Given the description of an element on the screen output the (x, y) to click on. 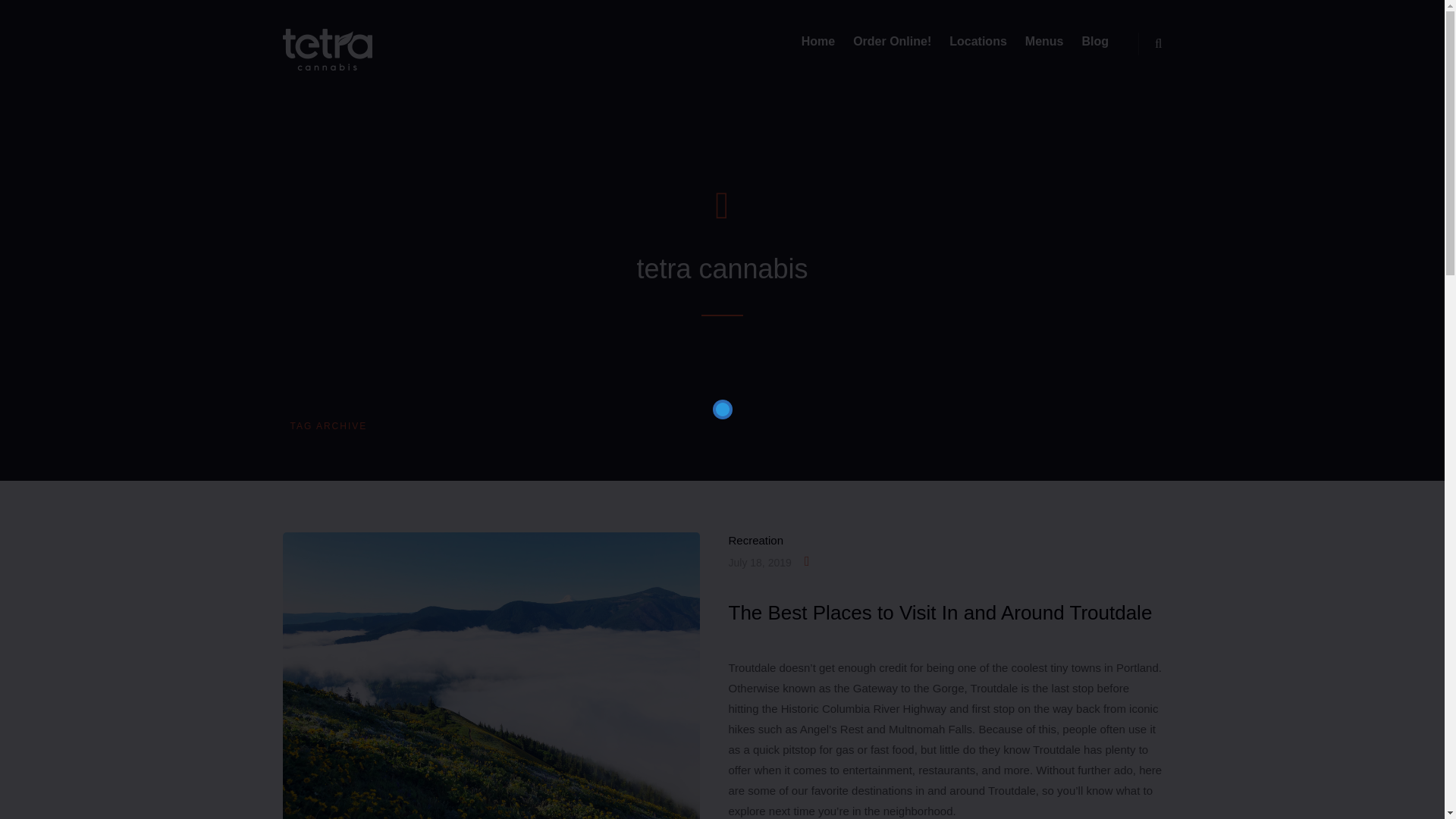
July 18, 2019 (759, 562)
The Best Places to Visit In and Around Troutdale (939, 612)
Recreation (755, 540)
Home (817, 41)
Locations (978, 41)
Order Online! (892, 41)
Menus (1044, 41)
